Given the description of an element on the screen output the (x, y) to click on. 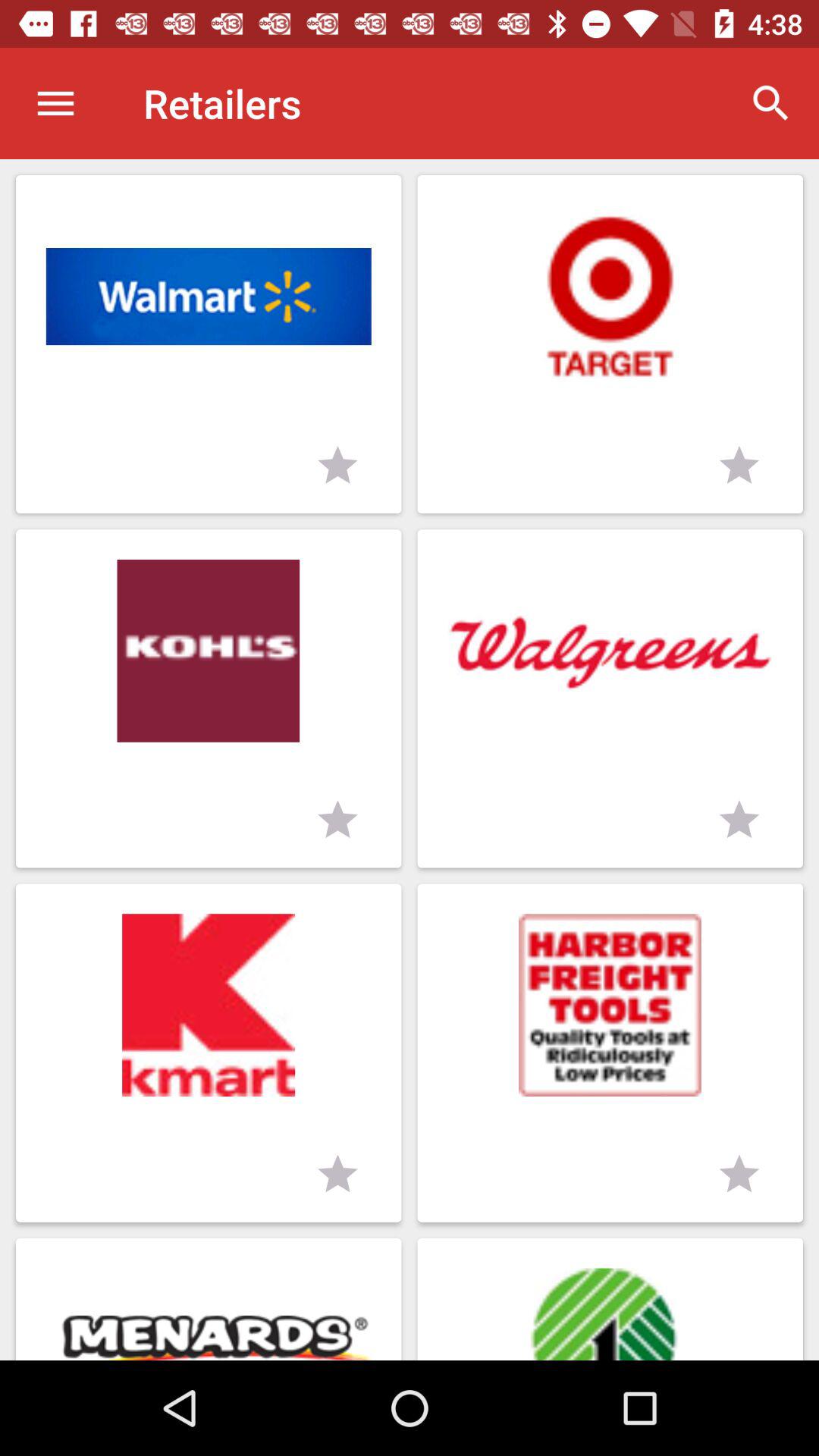
launch item next to the retailers item (771, 103)
